Given the description of an element on the screen output the (x, y) to click on. 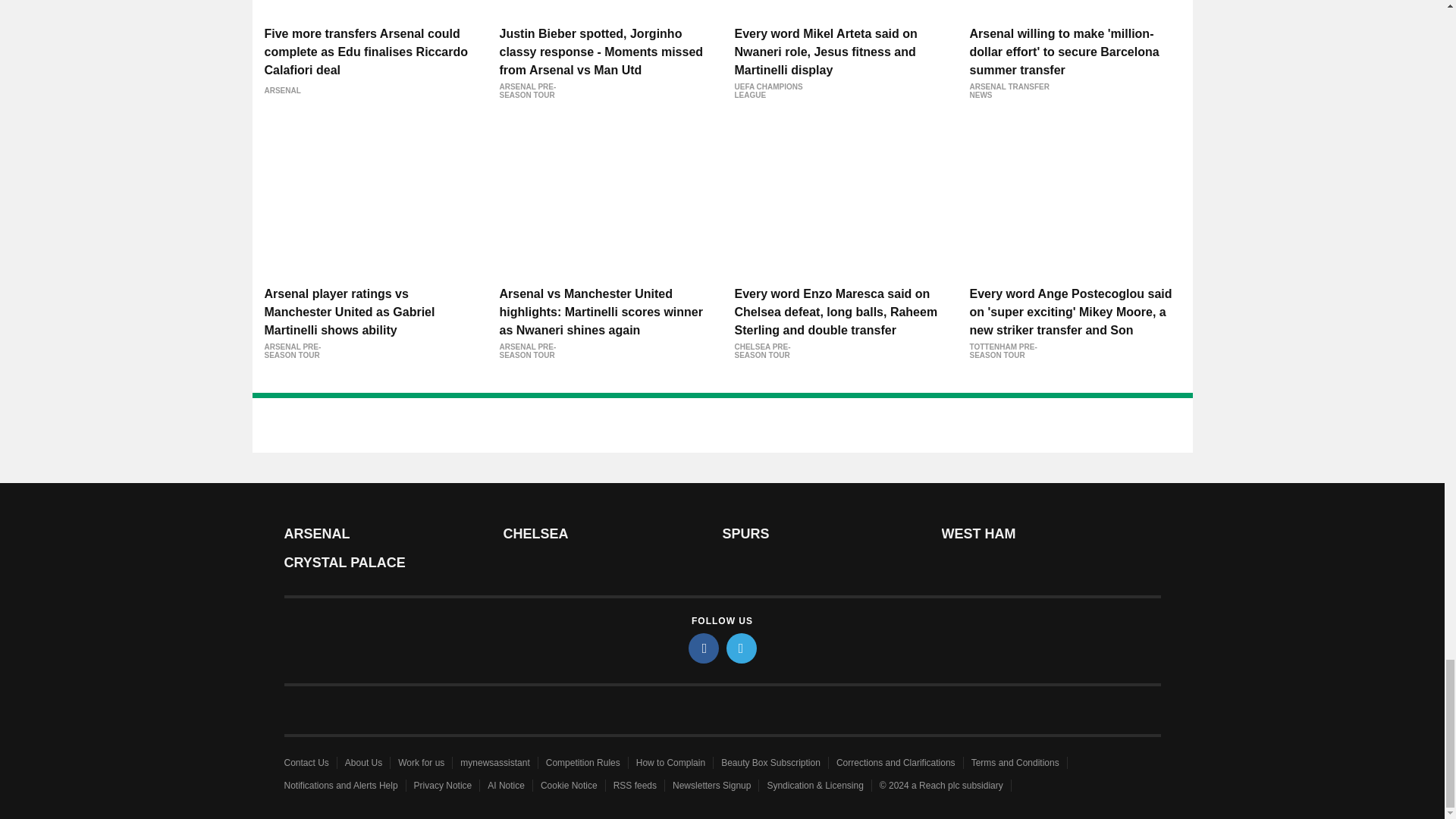
twitter (741, 648)
facebook (703, 648)
